Given the description of an element on the screen output the (x, y) to click on. 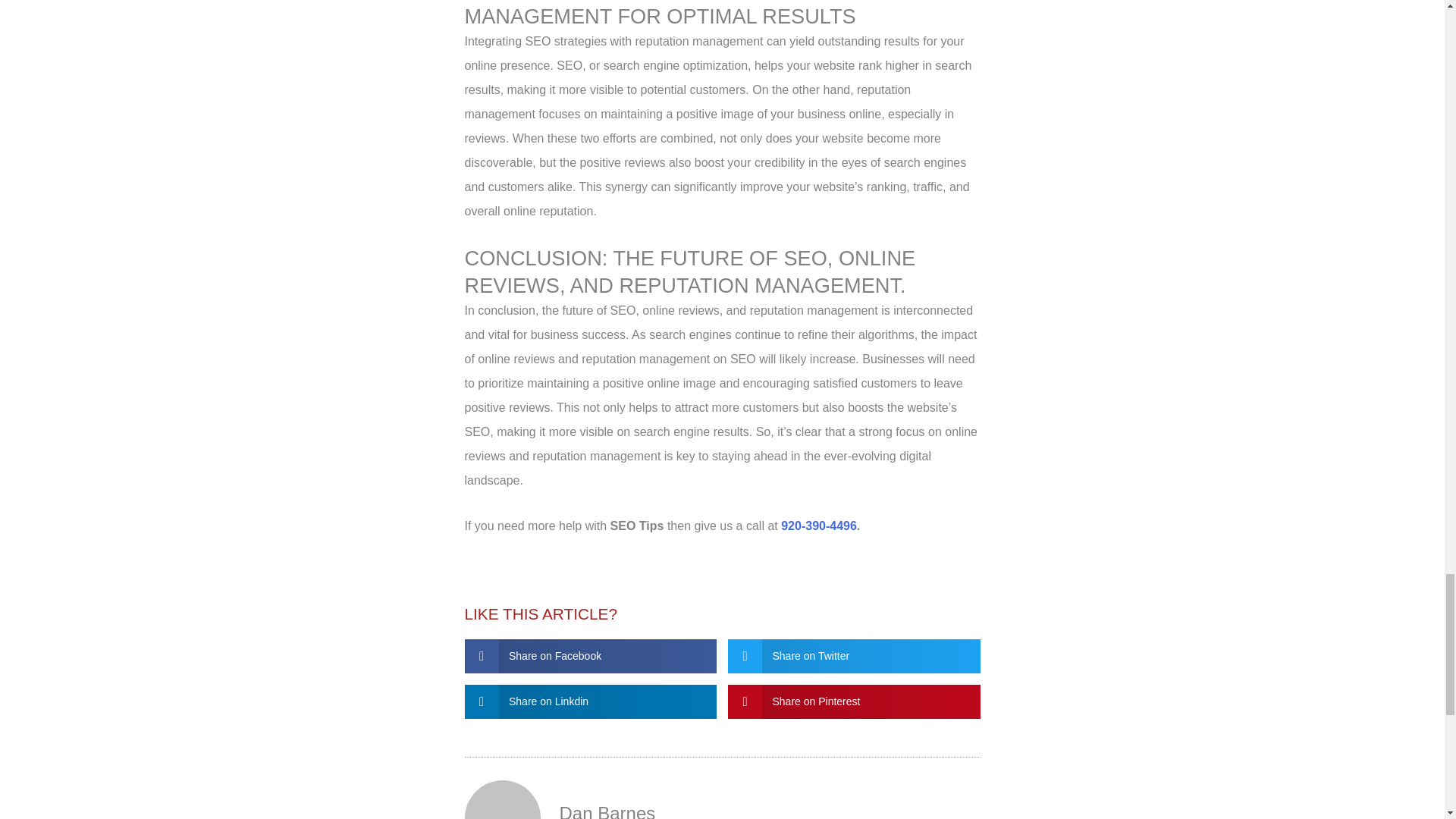
920-390-4496 (818, 525)
